Given the description of an element on the screen output the (x, y) to click on. 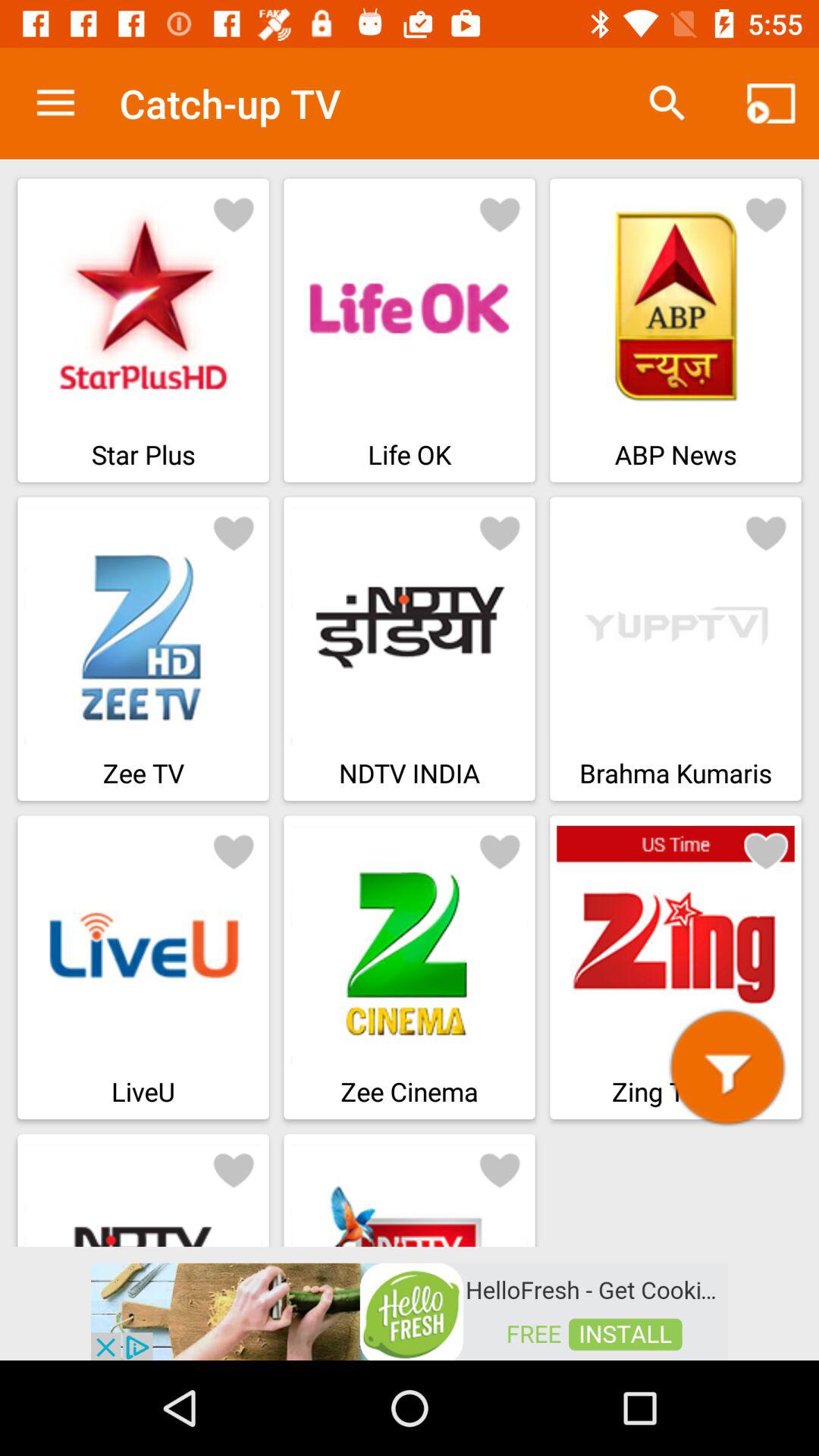
favorite heart button for ndtv india (499, 532)
